Given the description of an element on the screen output the (x, y) to click on. 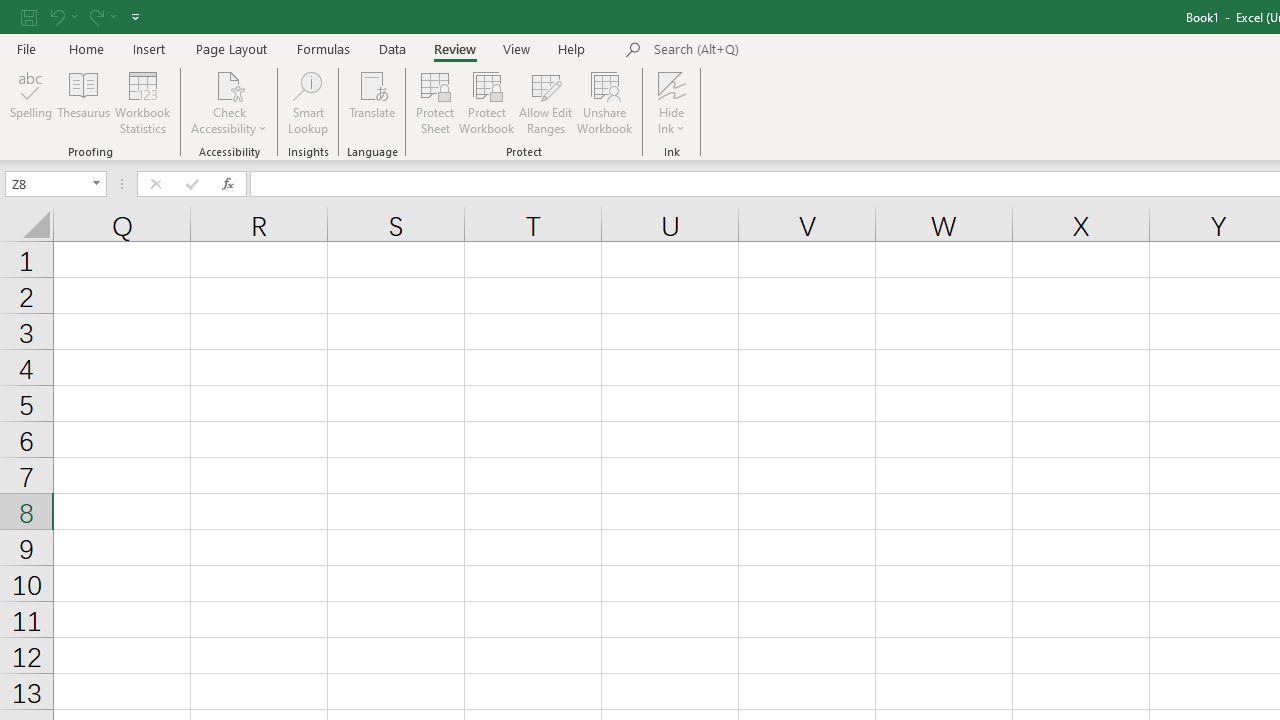
Spelling... (31, 102)
Allow Edit Ranges (545, 102)
Translate (372, 102)
